Given the description of an element on the screen output the (x, y) to click on. 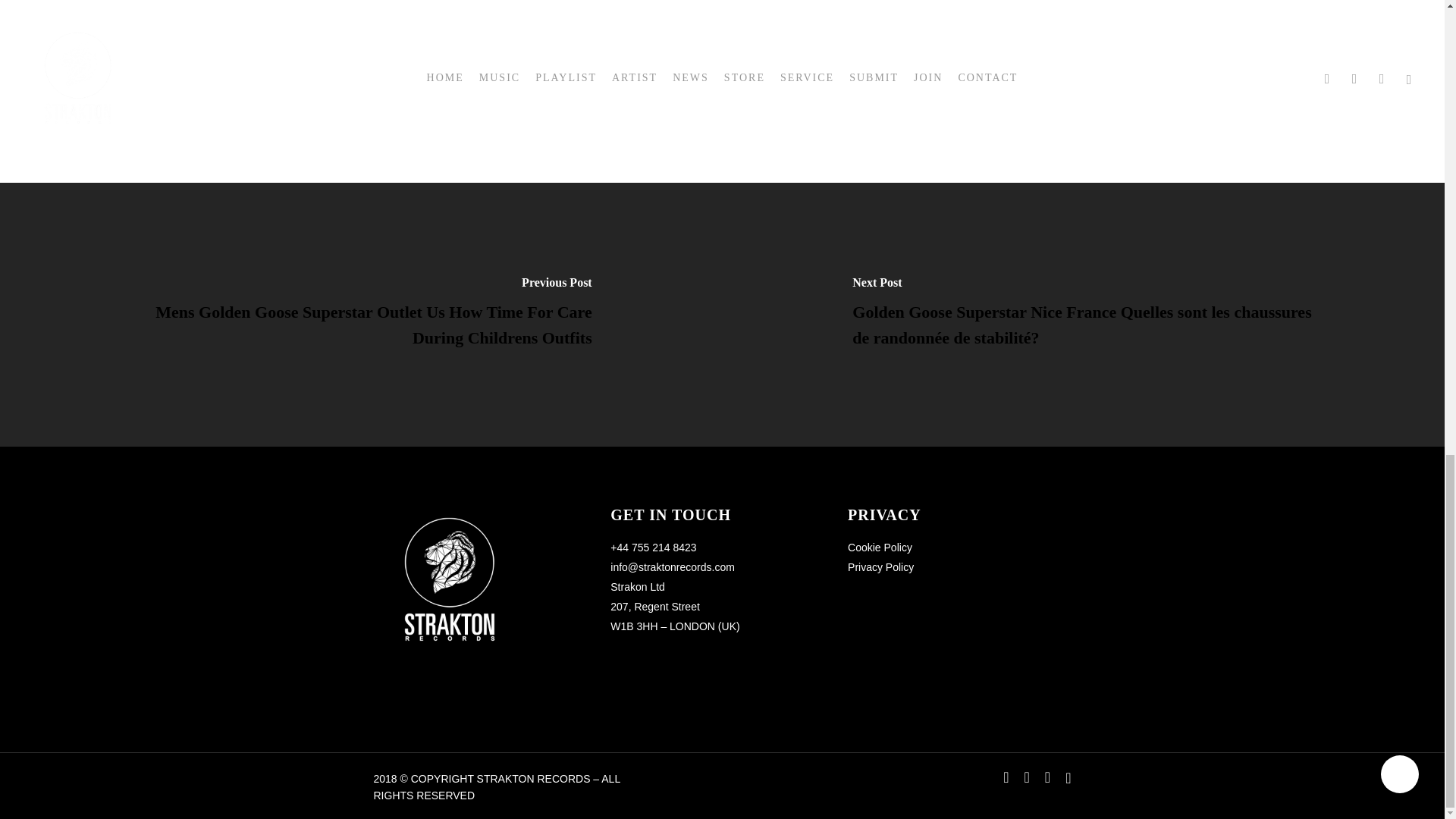
spotify (1067, 777)
instagram (1047, 777)
youtube (1027, 777)
facebook (1006, 777)
